Given the description of an element on the screen output the (x, y) to click on. 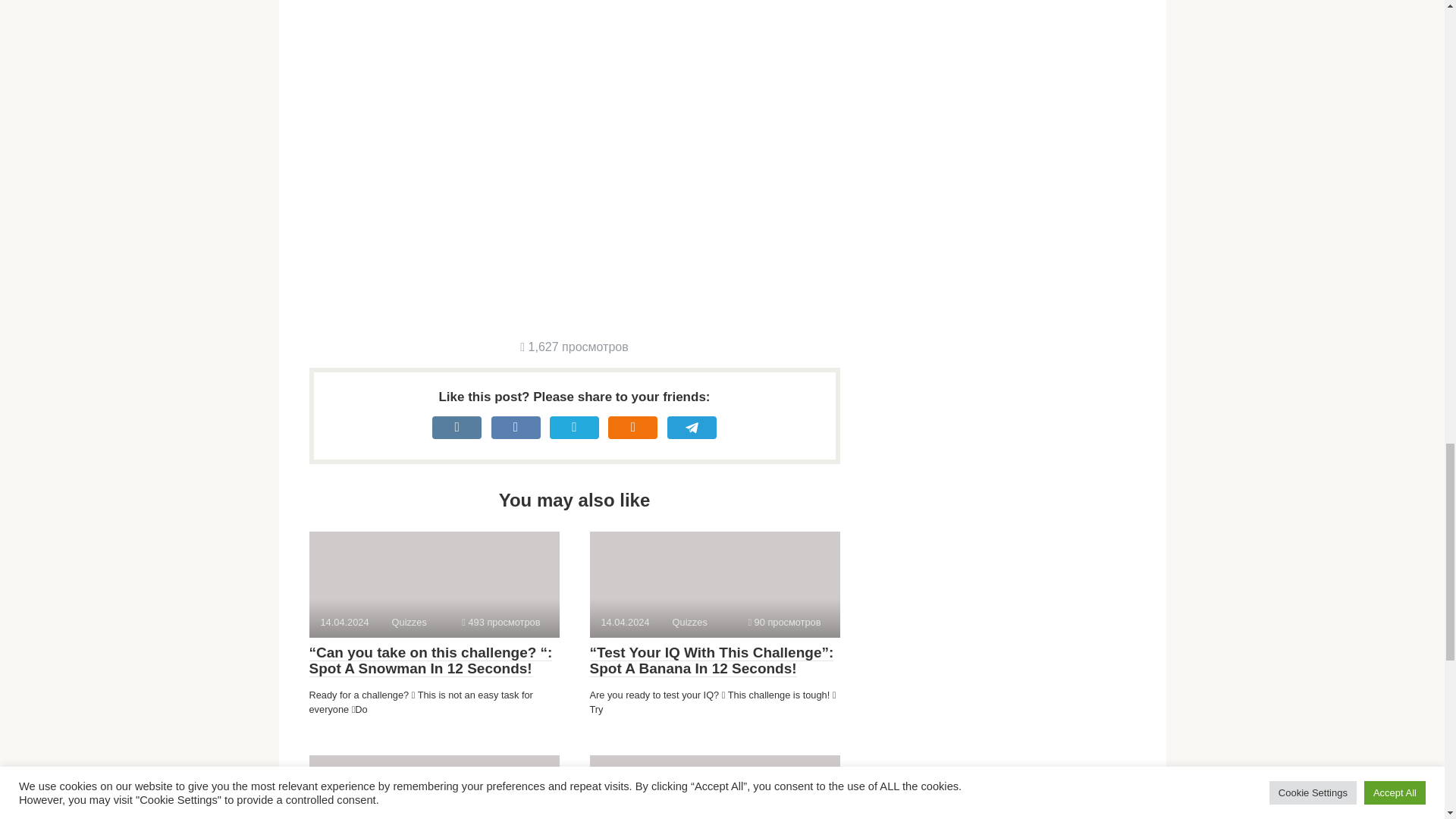
Views (500, 622)
Views (784, 622)
Views (573, 346)
